Given the description of an element on the screen output the (x, y) to click on. 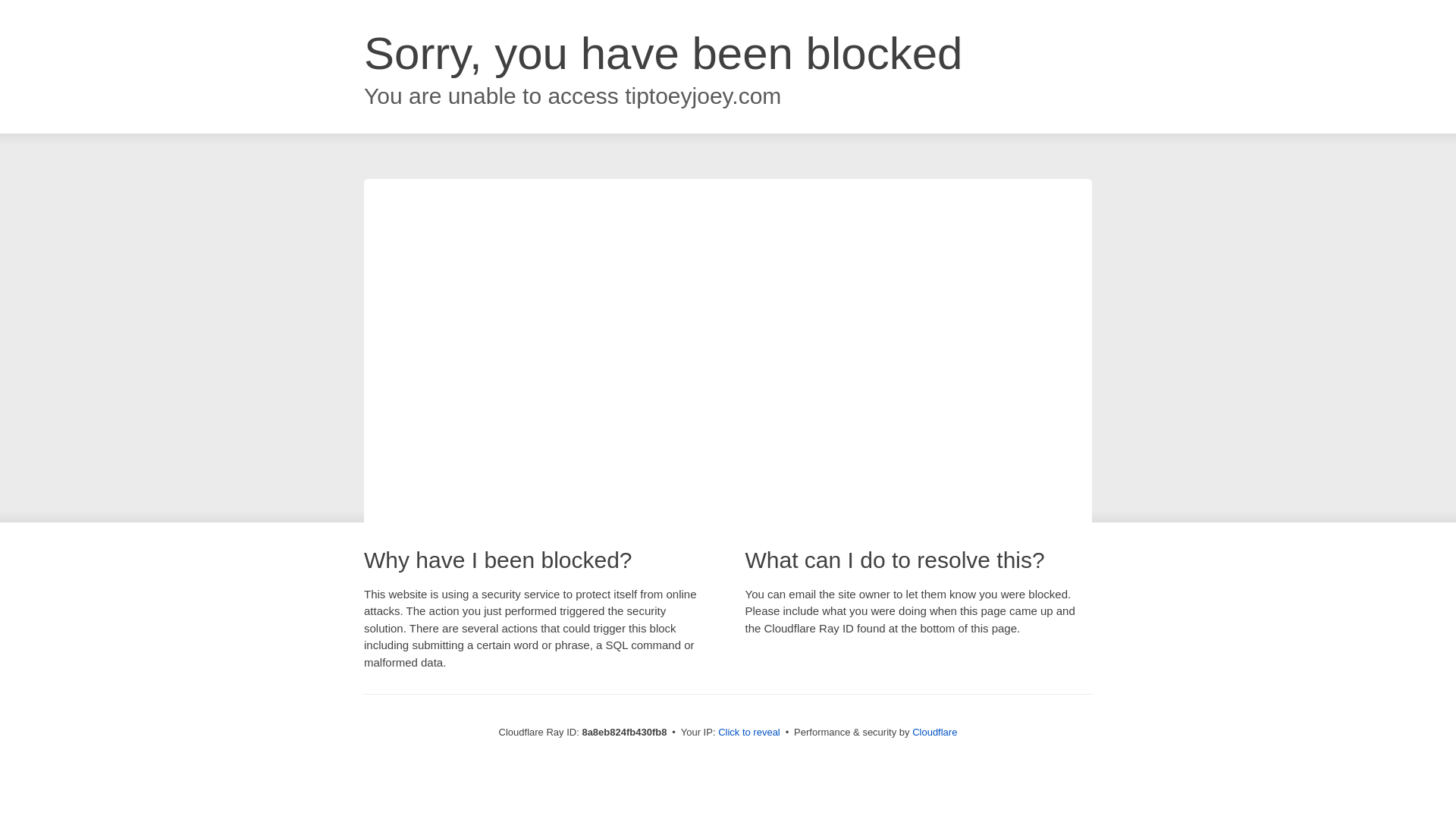
Cloudflare (934, 731)
Click to reveal (748, 732)
